Given the description of an element on the screen output the (x, y) to click on. 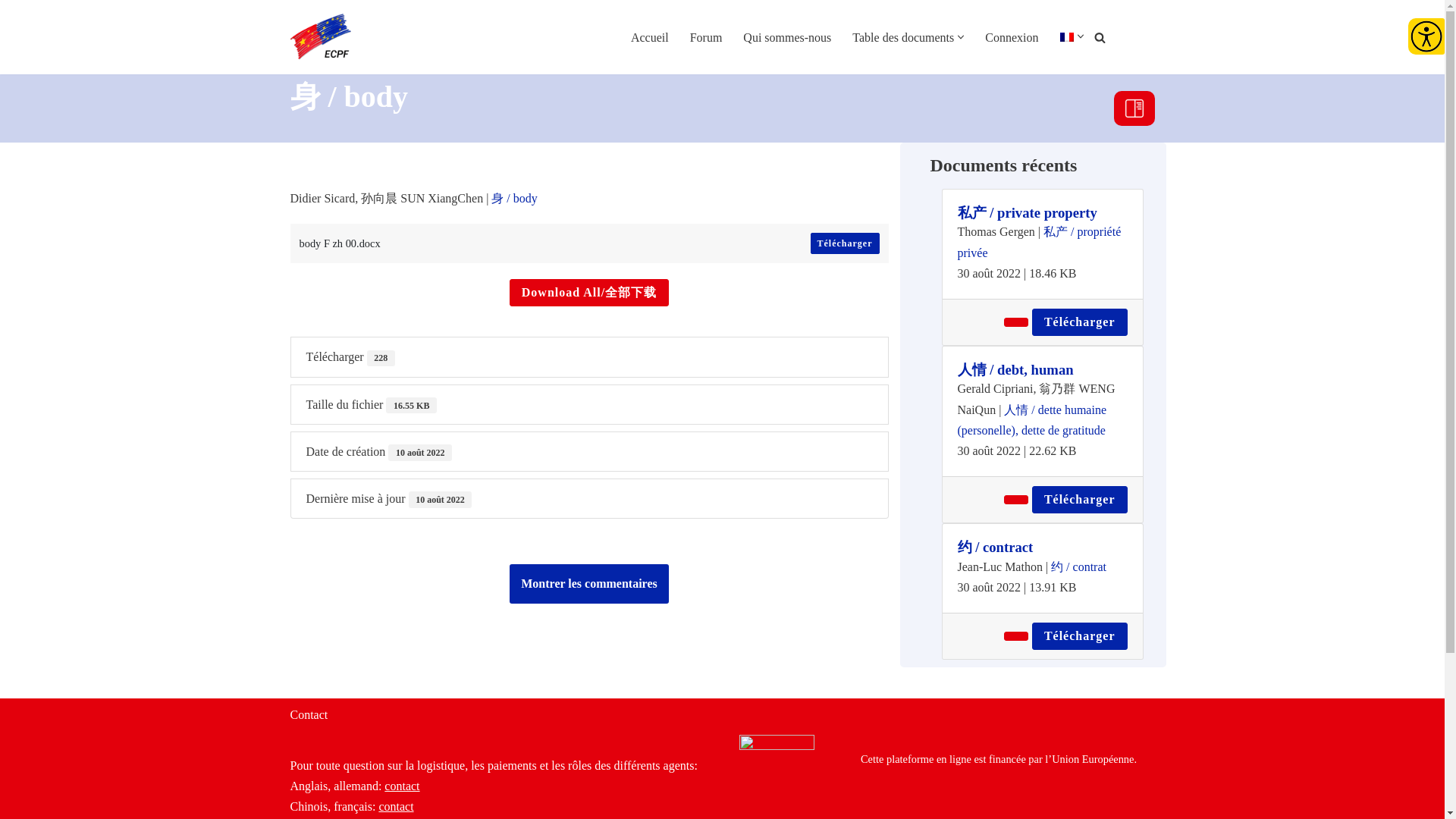
Table des documents (902, 37)
Accueil (649, 37)
Montrer les commentaires (588, 583)
Qui sommes-nous (786, 37)
Forum (706, 37)
Sidebar (1133, 108)
Aller au contenu (15, 11)
Forum Transcultura (319, 36)
Connexion (1011, 37)
